Given the description of an element on the screen output the (x, y) to click on. 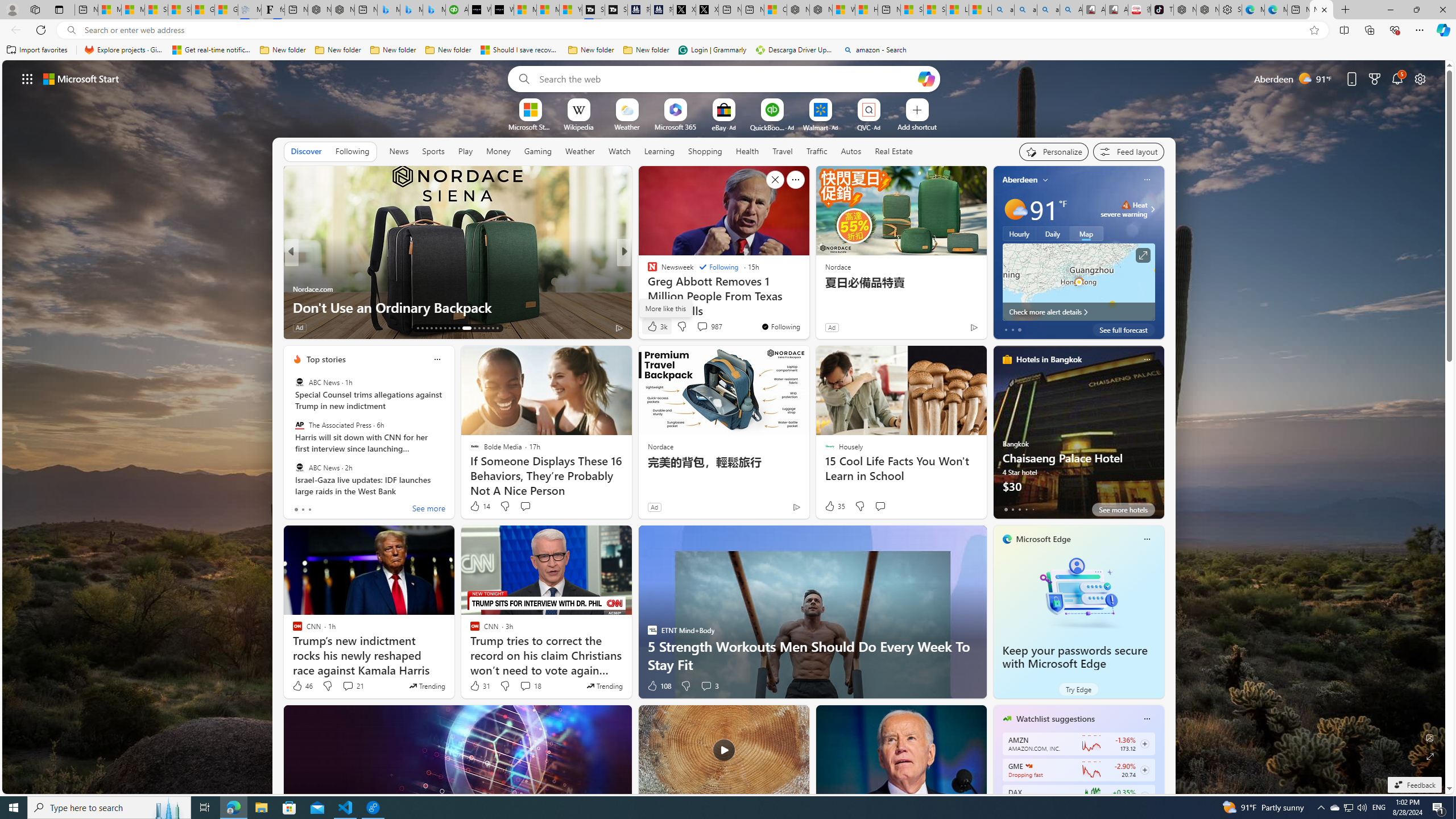
Real Estate (893, 151)
Aberdeen (1019, 179)
Descarga Driver Updater (794, 49)
AutomationID: tab-13 (417, 328)
Wikipedia (578, 126)
View comments 2 Comment (698, 327)
POLITICO (647, 270)
My location (1045, 179)
Settings (1230, 9)
Autos (850, 151)
View comments 987 Comment (708, 326)
Accounting Software for Accountants, CPAs and Bookkeepers (457, 9)
